Given the description of an element on the screen output the (x, y) to click on. 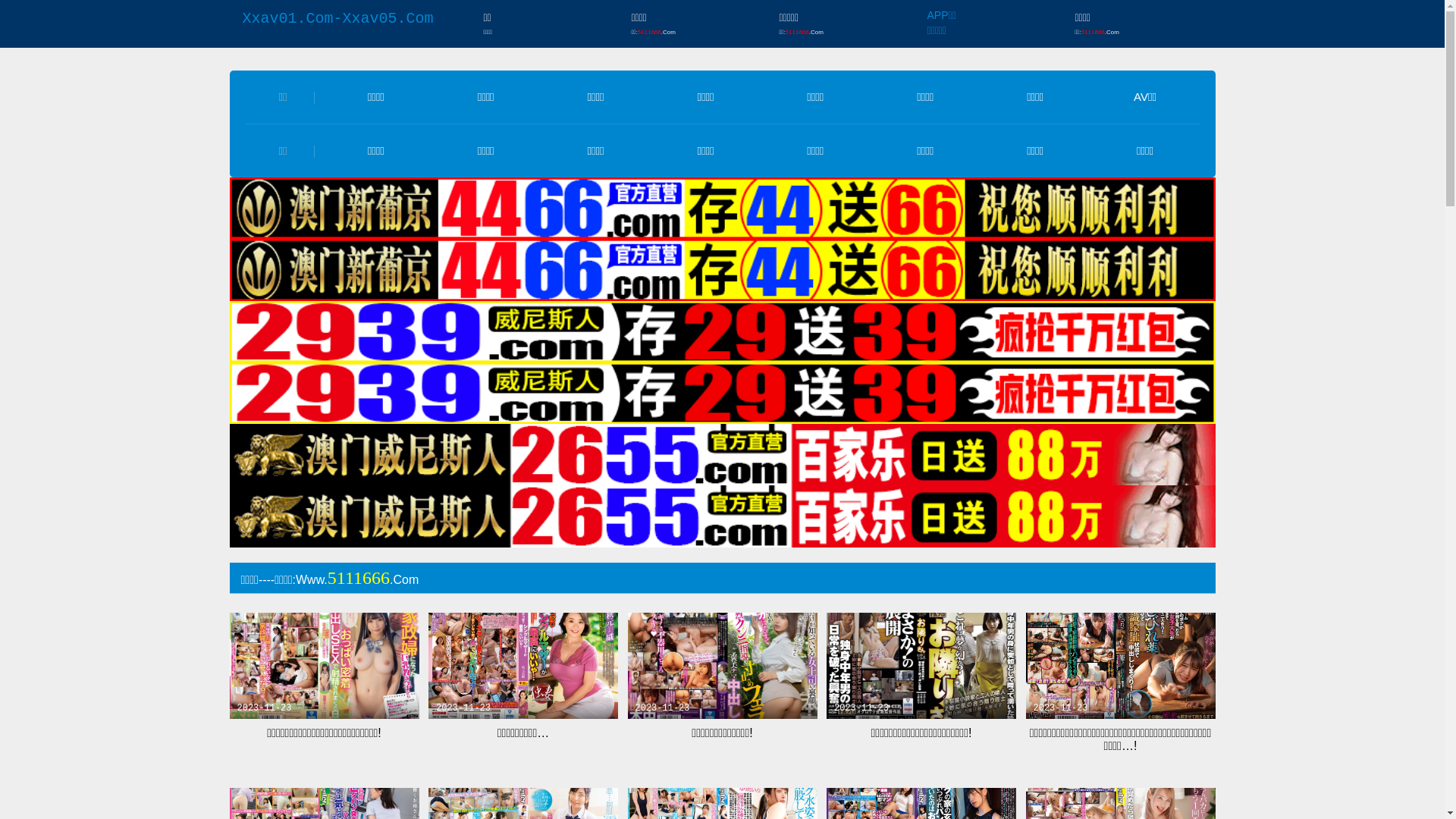
2023-11-23 Element type: text (921, 665)
2023-11-23 Element type: text (323, 665)
2023-11-23 Element type: text (523, 665)
2023-11-23 Element type: text (722, 665)
2023-11-23 Element type: text (1119, 665)
